Given the description of an element on the screen output the (x, y) to click on. 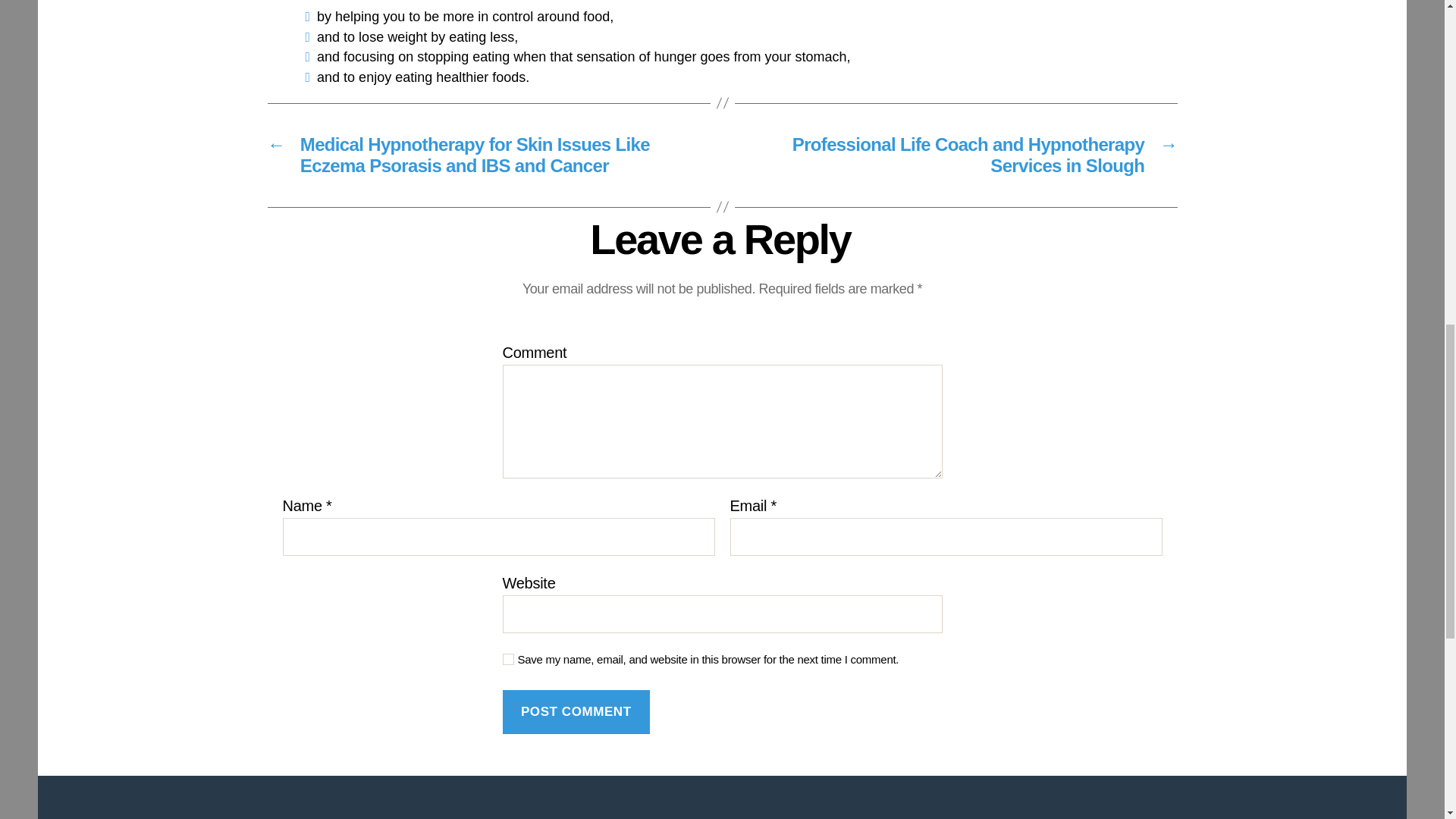
yes (507, 659)
Post Comment (575, 712)
